Given the description of an element on the screen output the (x, y) to click on. 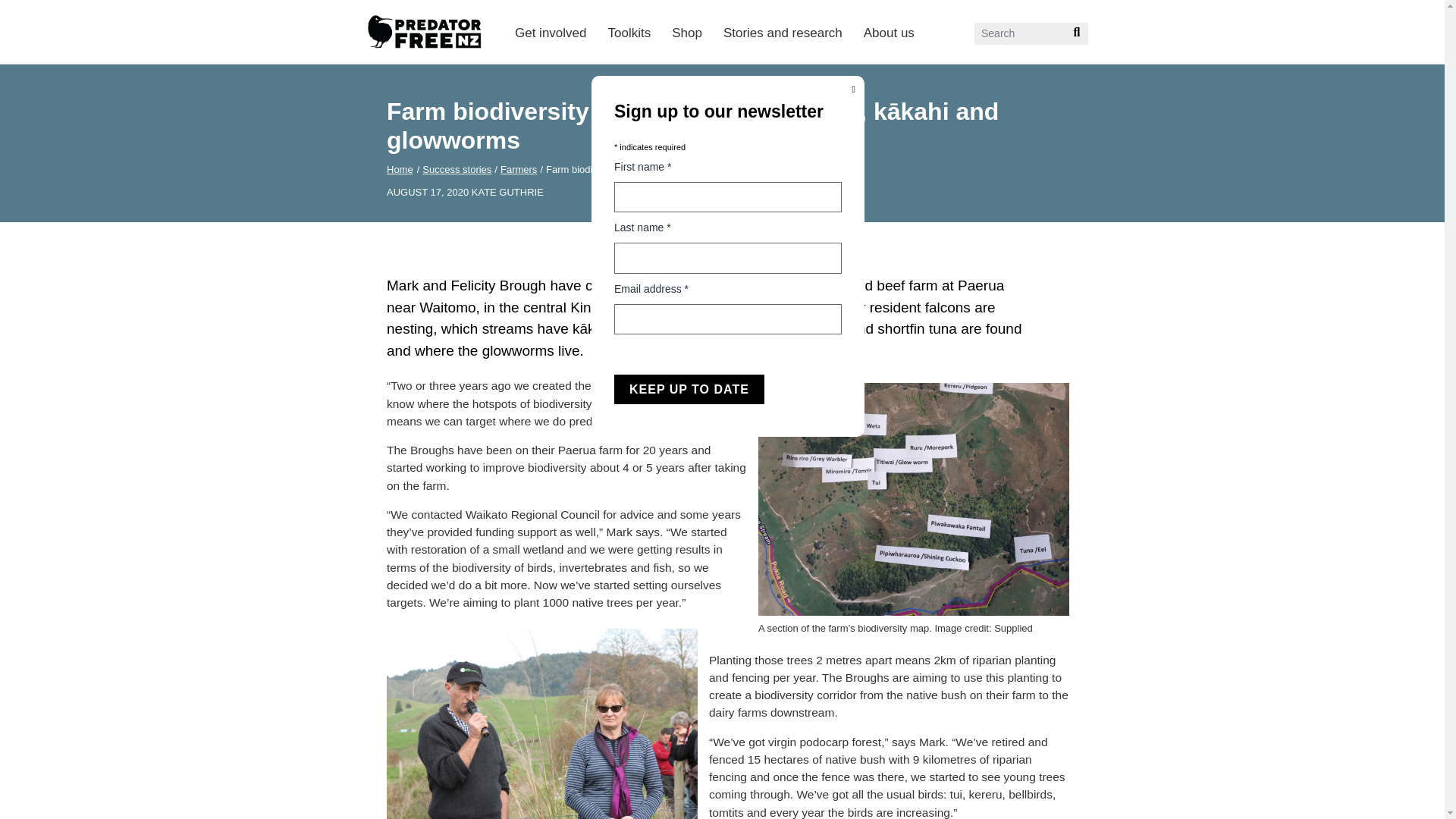
Keep up to date (689, 389)
Farmers (518, 169)
Predator Free NZ Trust (437, 72)
Get involved (550, 32)
Category Name (457, 169)
Toolkits (629, 32)
Search for: (1030, 33)
Search (1070, 37)
